Given the description of an element on the screen output the (x, y) to click on. 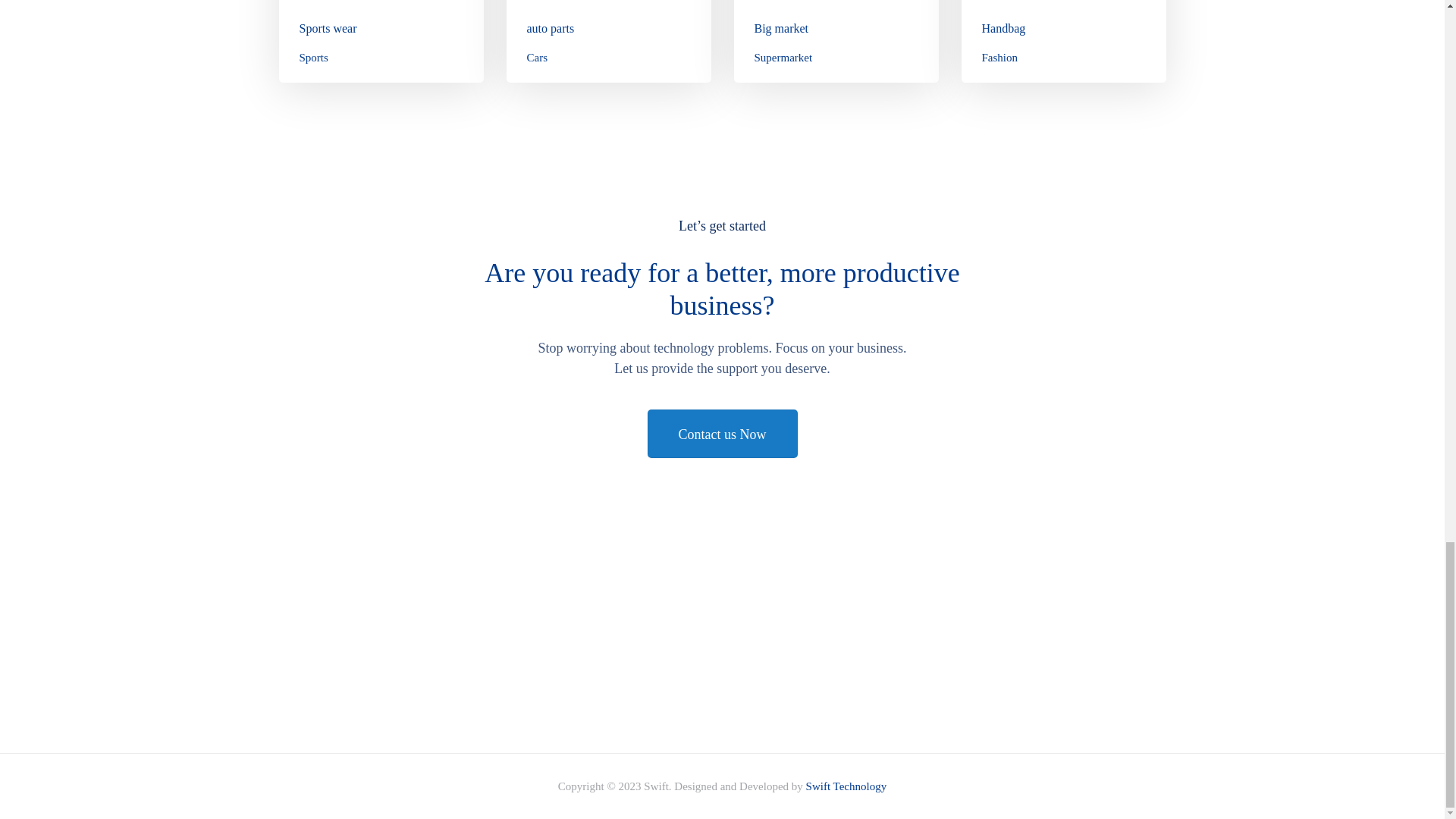
Sports wear (327, 28)
Cars (536, 57)
Sports (312, 57)
auto parts (549, 28)
